Given the description of an element on the screen output the (x, y) to click on. 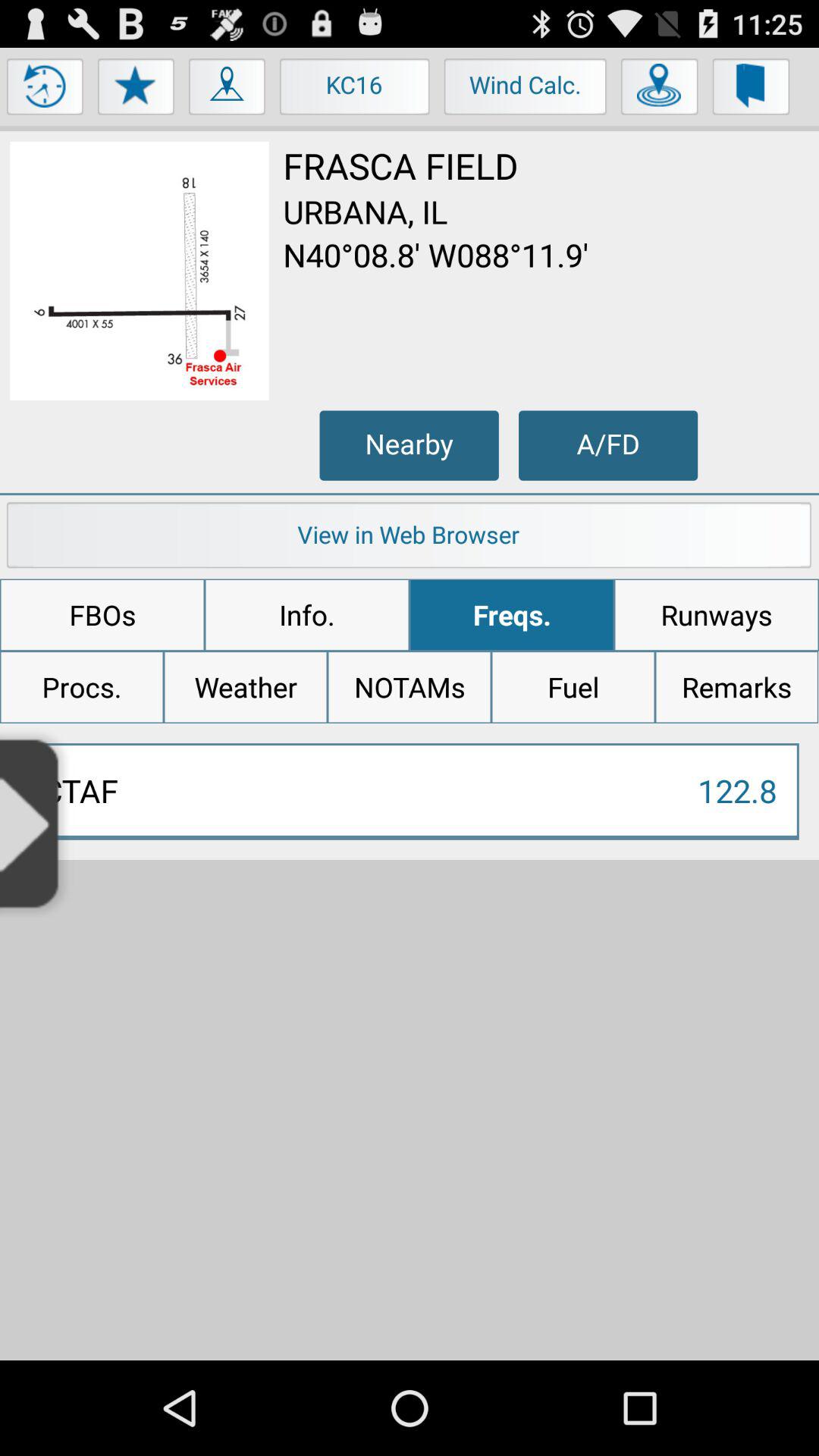
turn on info. item (306, 615)
